Given the description of an element on the screen output the (x, y) to click on. 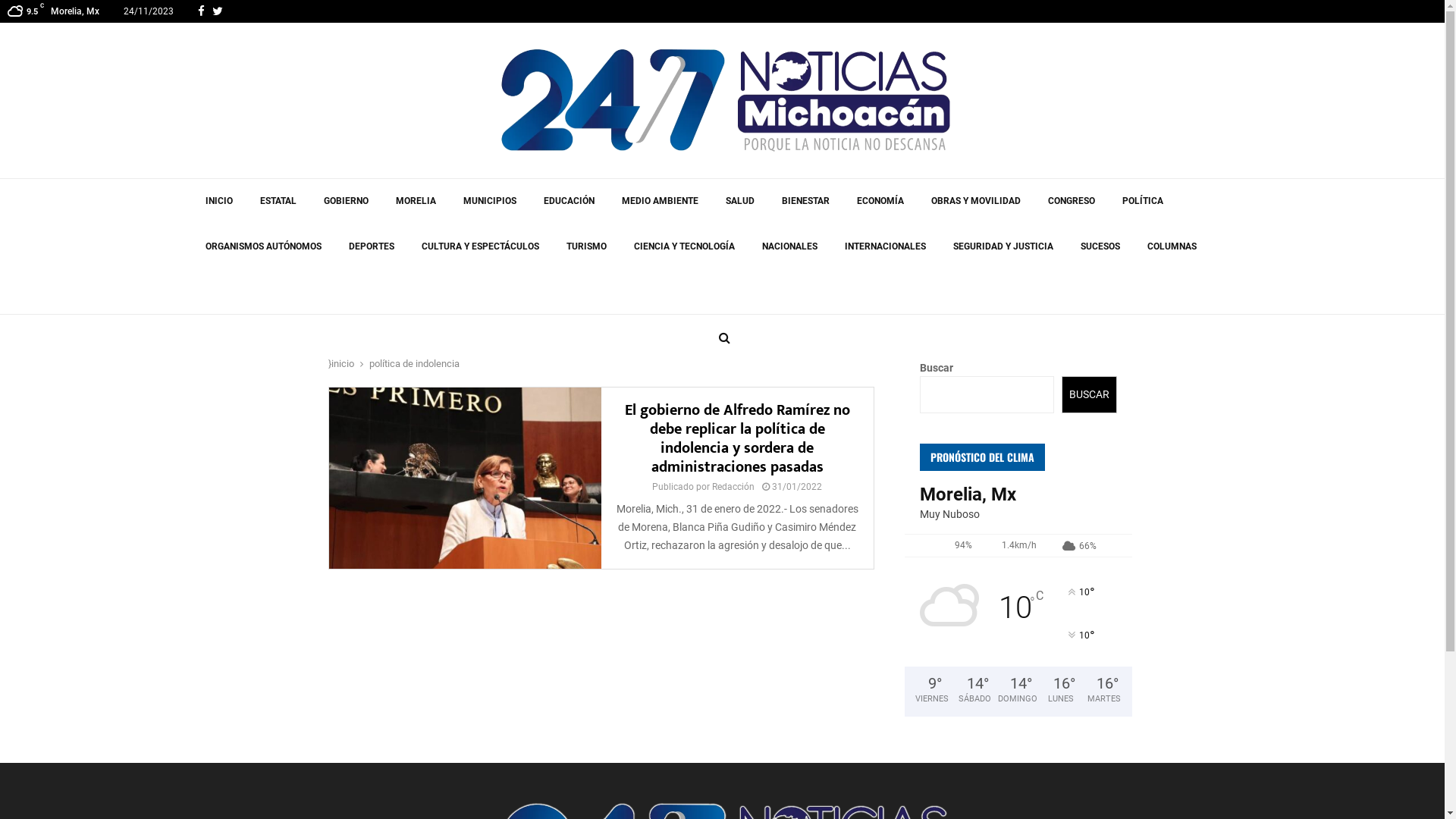
TURISMO Element type: text (585, 246)
MORELIA Element type: text (415, 200)
SEGURIDAD Y JUSTICIA Element type: text (1002, 246)
OBRAS Y MOVILIDAD Element type: text (975, 200)
BUSCAR Element type: text (1089, 394)
Facebook Element type: text (200, 11)
BIENESTAR Element type: text (804, 200)
COLUMNAS Element type: text (1170, 246)
GOBIERNO Element type: text (345, 200)
NACIONALES Element type: text (788, 246)
INICIO Element type: text (218, 200)
MEDIO AMBIENTE Element type: text (660, 200)
DEPORTES Element type: text (371, 246)
Twitter Element type: text (217, 11)
CONGRESO Element type: text (1071, 200)
SUCESOS Element type: text (1099, 246)
31/01/2022 Element type: text (796, 486)
SALUD Element type: text (739, 200)
ESTATAL Element type: text (277, 200)
MUNICIPIOS Element type: text (488, 200)
INTERNACIONALES Element type: text (885, 246)
